Given the description of an element on the screen output the (x, y) to click on. 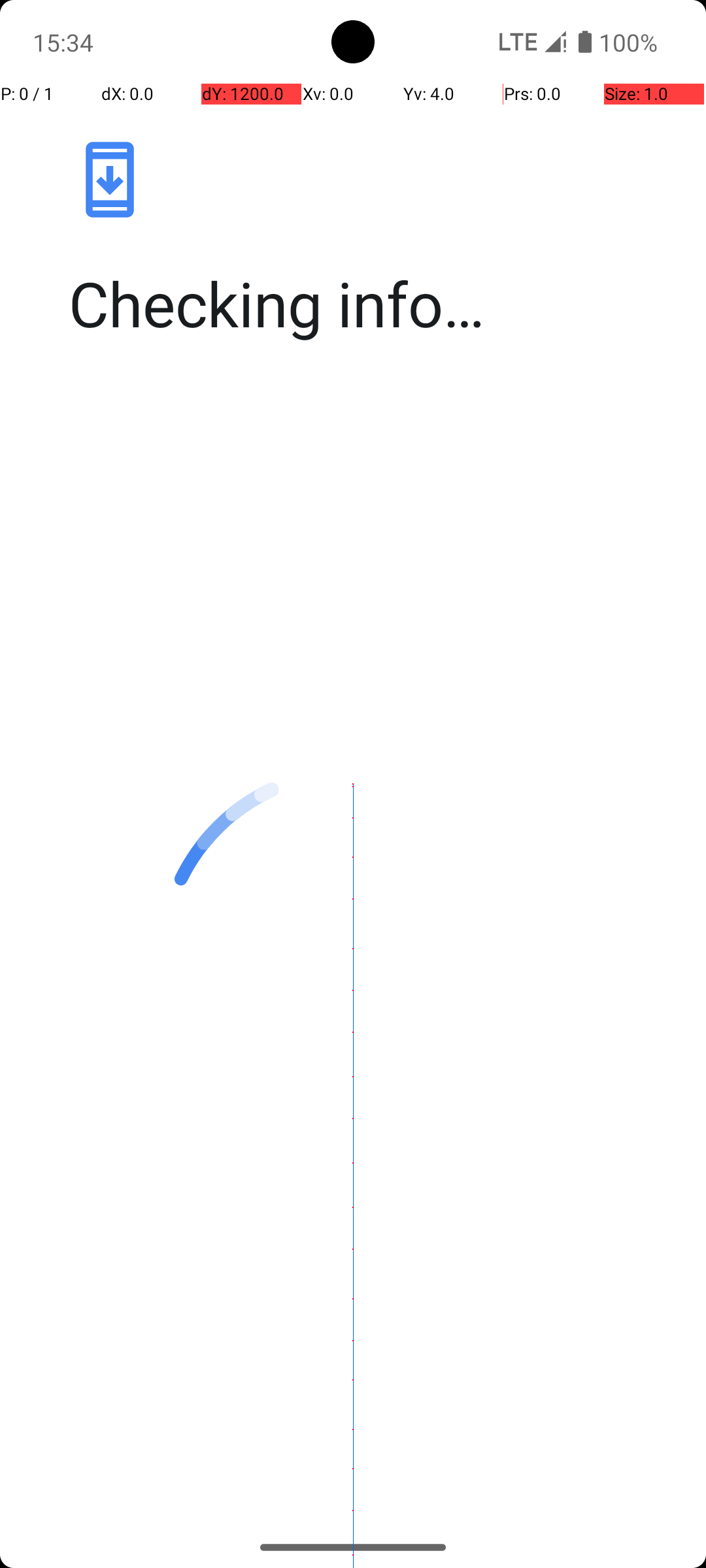
Checking info… Element type: android.widget.TextView (366, 302)
